Given the description of an element on the screen output the (x, y) to click on. 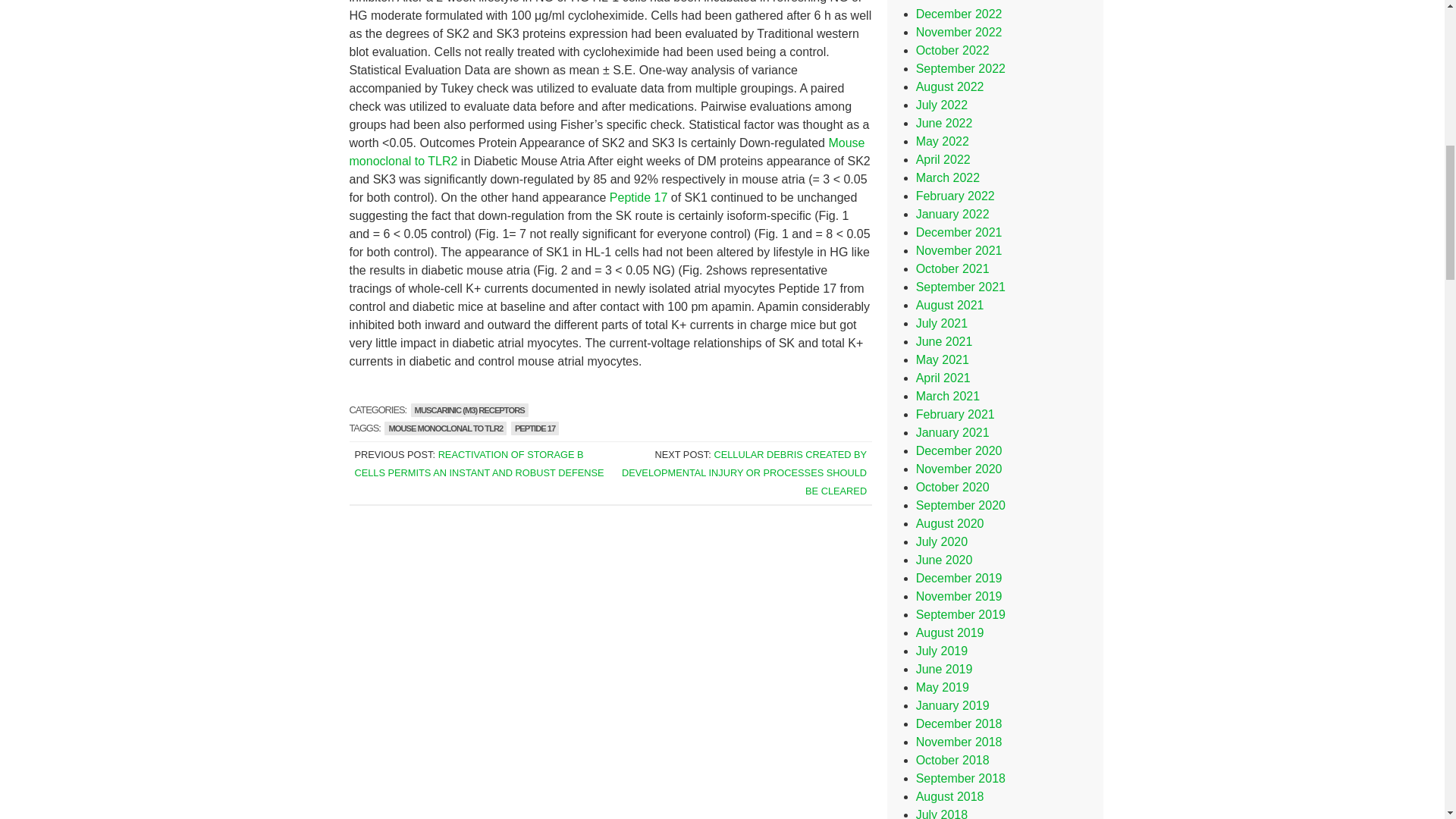
November 2021 (959, 250)
Peptide 17 (639, 196)
May 2022 (942, 141)
November 2022 (959, 31)
December 2022 (959, 13)
August 2022 (949, 86)
June 2022 (943, 123)
PEPTIDE 17 (535, 427)
February 2022 (954, 195)
July 2021 (941, 323)
October 2022 (952, 50)
MOUSE MONOCLONAL TO TLR2 (445, 427)
July 2022 (941, 104)
